Given the description of an element on the screen output the (x, y) to click on. 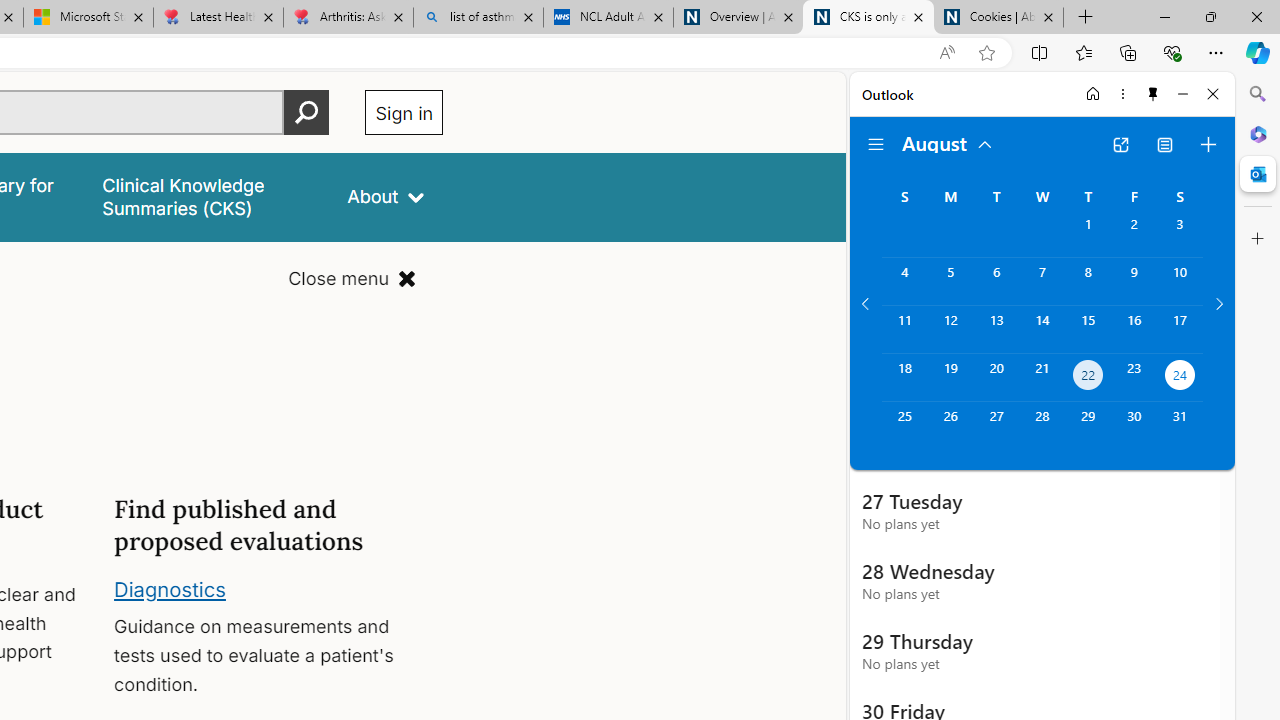
Thursday, August 29, 2024.  (1088, 425)
Thursday, August 15, 2024.  (1088, 329)
false (207, 196)
Wednesday, August 28, 2024.  (1042, 425)
Open in new tab (1120, 144)
Wednesday, August 21, 2024.  (1042, 377)
Friday, August 2, 2024.  (1134, 233)
Saturday, August 3, 2024.  (1180, 233)
